Given the description of an element on the screen output the (x, y) to click on. 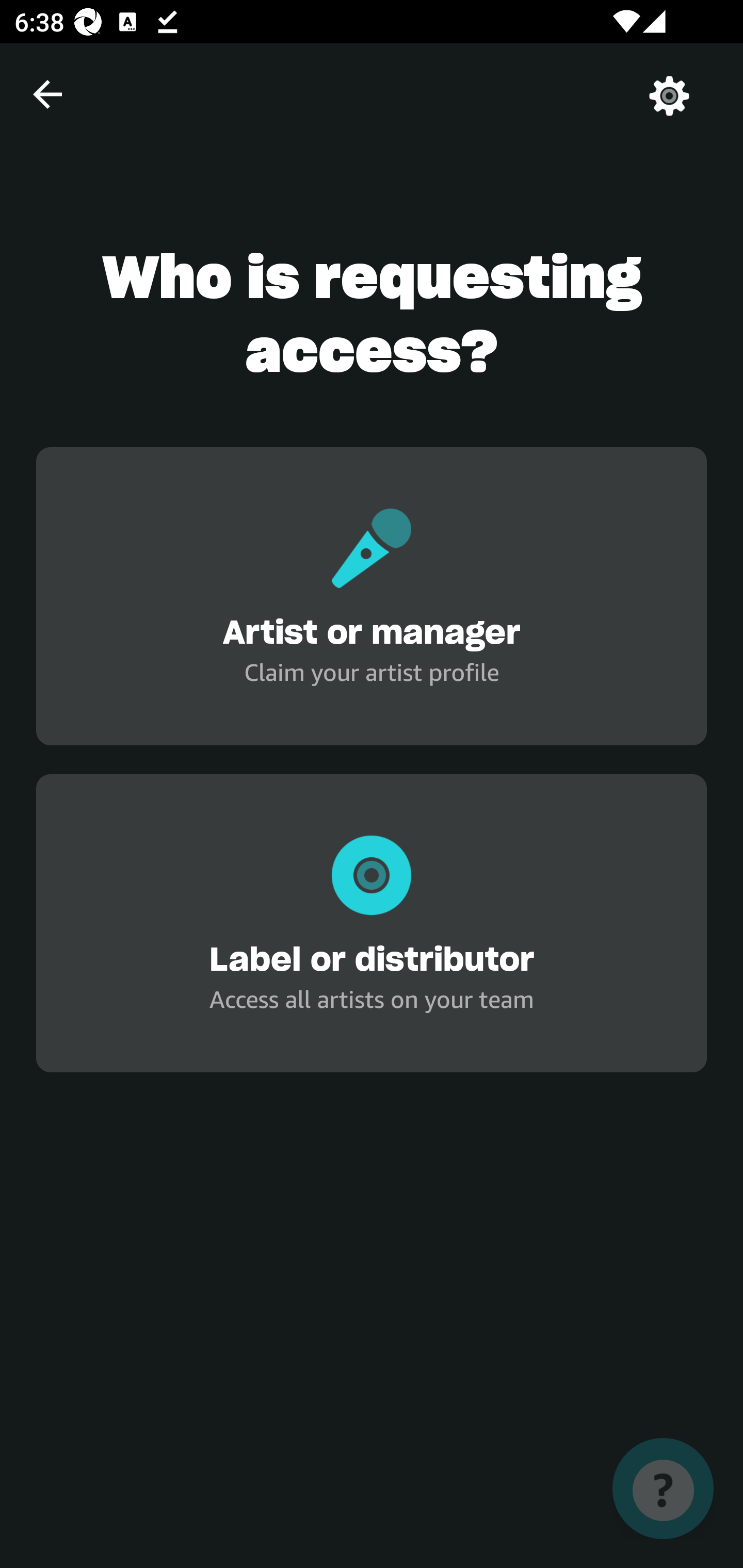
ArtistSelect, back (47, 93)
